Given the description of an element on the screen output the (x, y) to click on. 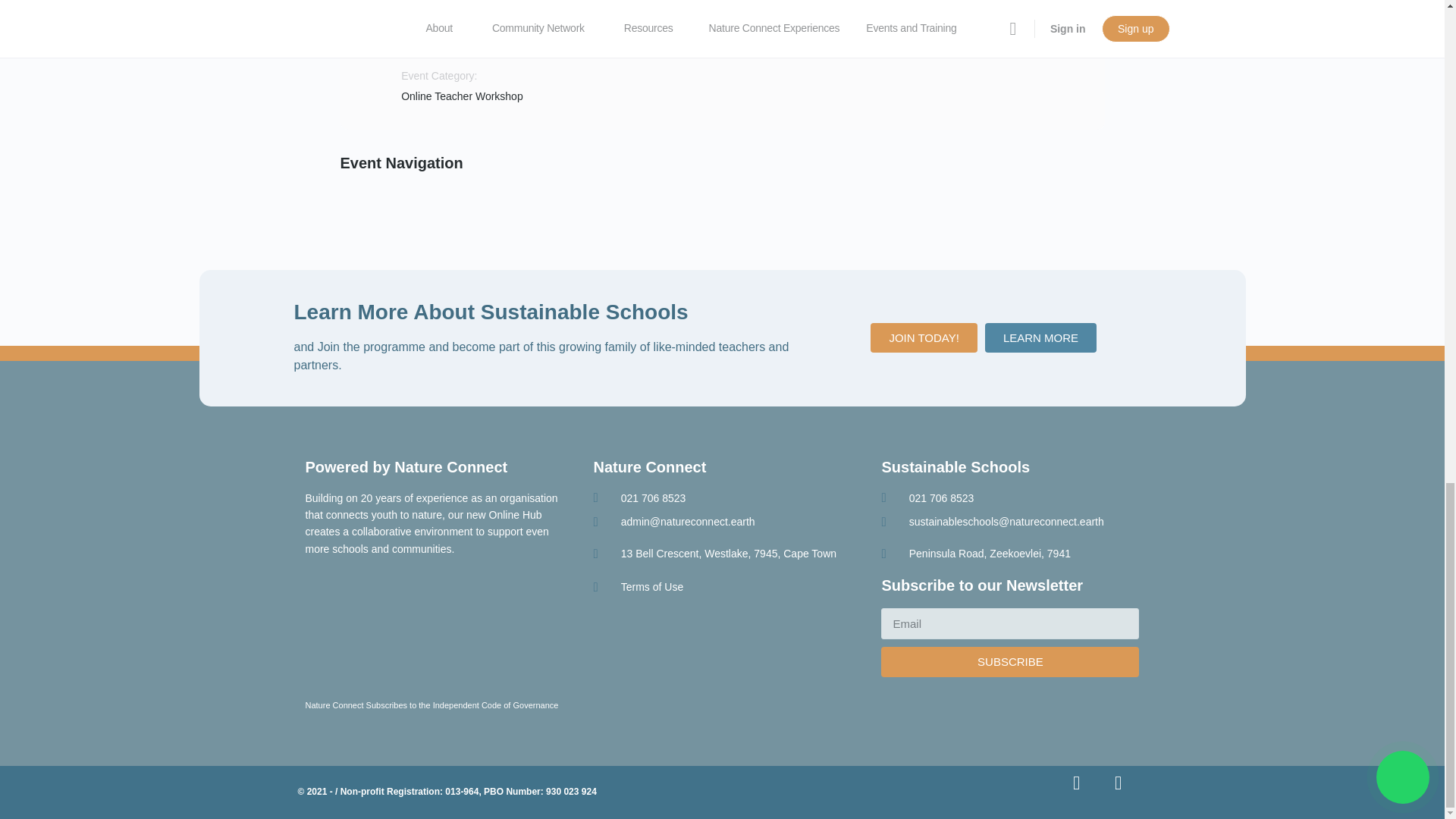
2024-04-18 (498, 2)
